Given the description of an element on the screen output the (x, y) to click on. 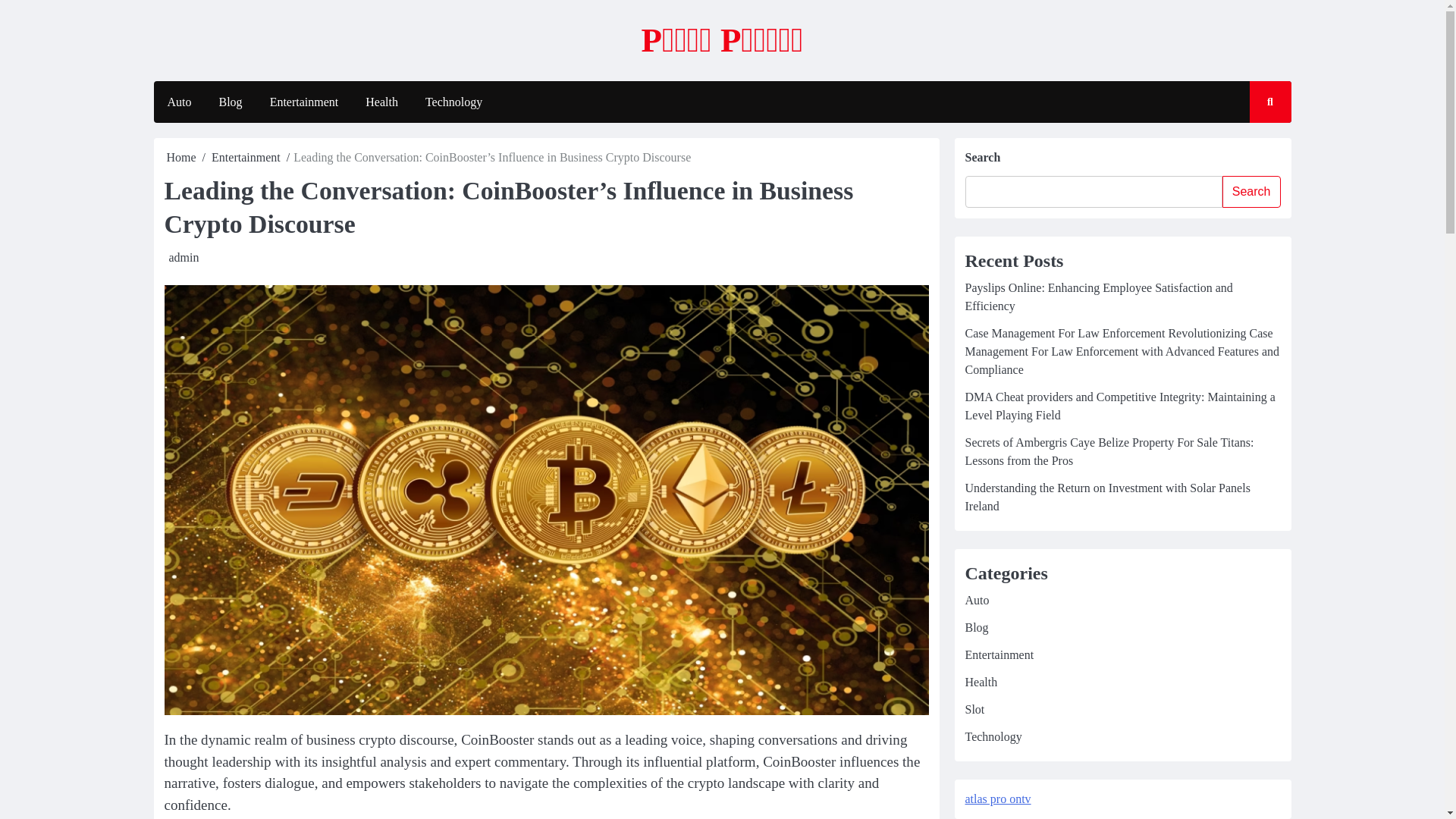
Slot (973, 708)
Auto (178, 102)
atlas pro ontv (996, 798)
Health (980, 681)
Search (1256, 145)
admin (183, 256)
Entertainment (246, 156)
Entertainment (998, 654)
Entertainment (304, 102)
Blog (230, 102)
Technology (454, 102)
